Given the description of an element on the screen output the (x, y) to click on. 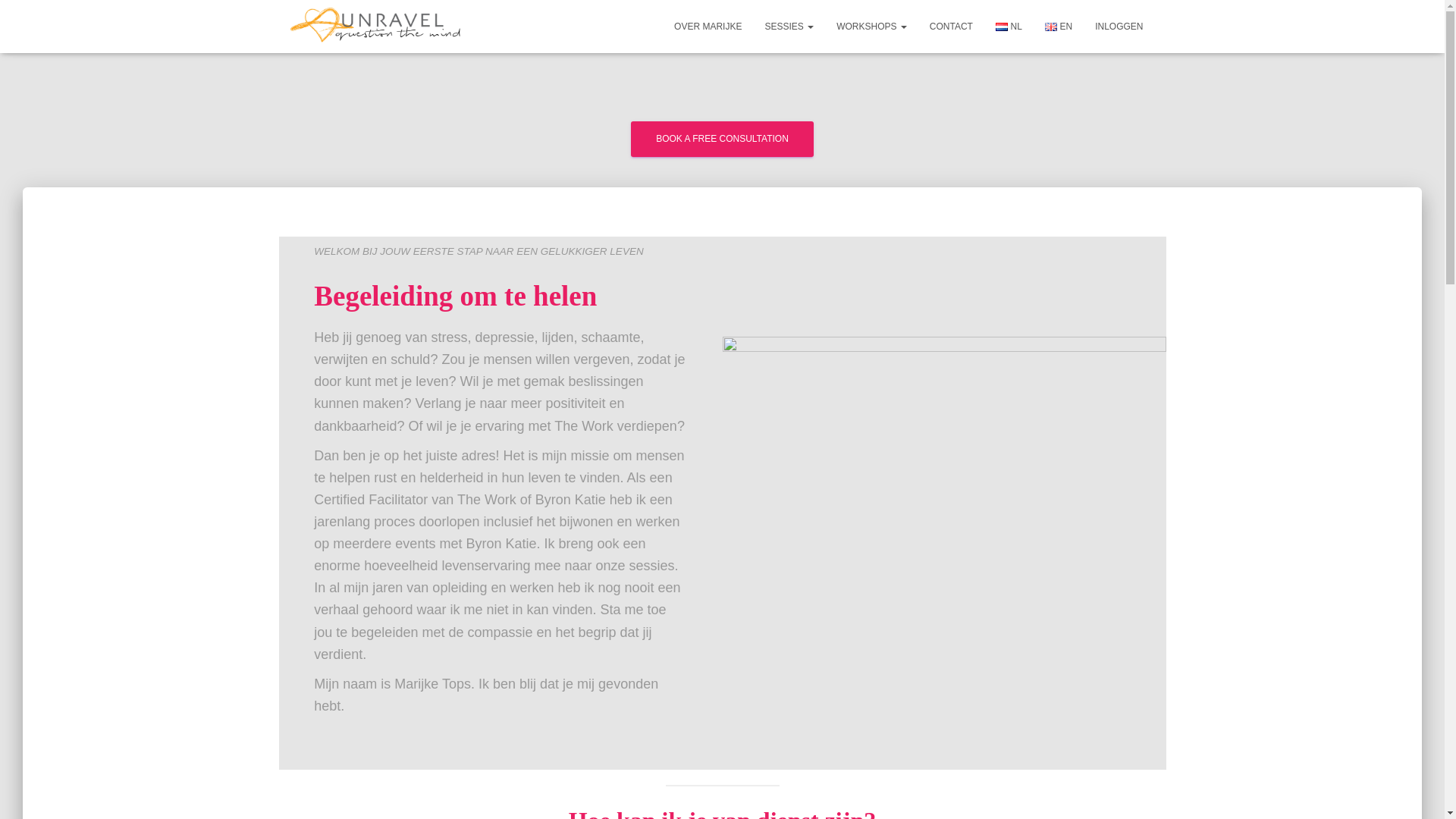
Over Marijke (707, 26)
SESSIES (788, 26)
CONTACT (951, 26)
EN (1058, 26)
OVER MARIJKE (707, 26)
EN (1058, 26)
NL (1008, 26)
INLOGGEN (1118, 26)
Inloggen (1118, 26)
NL (1008, 26)
Contact (951, 26)
Book a free consultation (721, 139)
WORKSHOPS (871, 26)
Sessies (788, 26)
Workshops (871, 26)
